Given the description of an element on the screen output the (x, y) to click on. 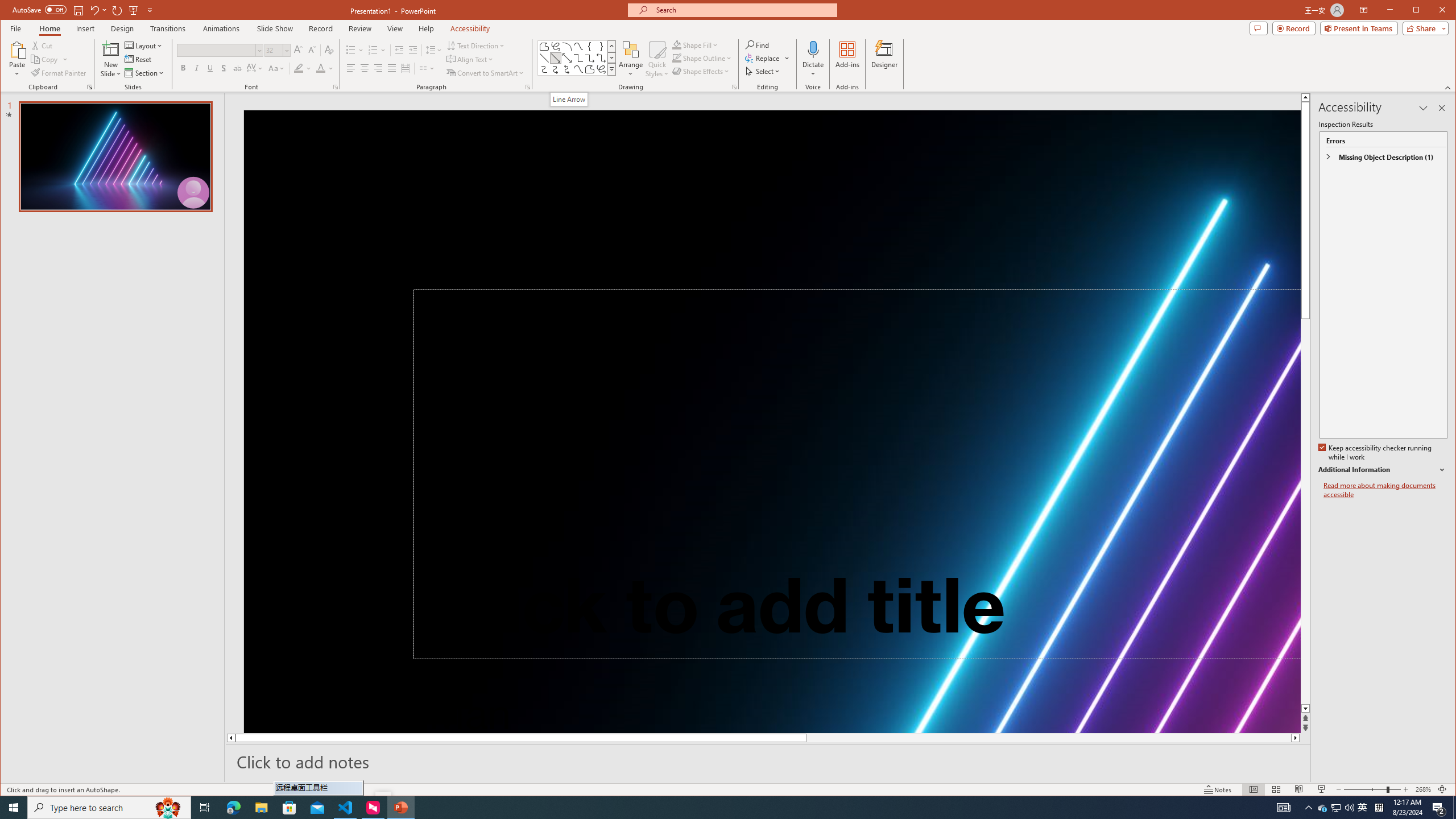
Neon laser lights aligned to form a triangle (772, 421)
